Given the description of an element on the screen output the (x, y) to click on. 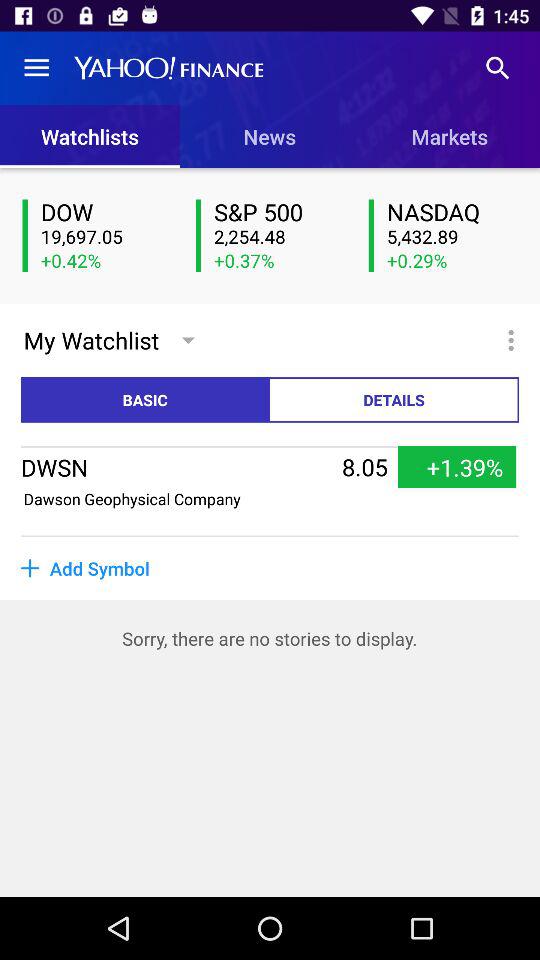
turn off the item above the watchlists (36, 68)
